Given the description of an element on the screen output the (x, y) to click on. 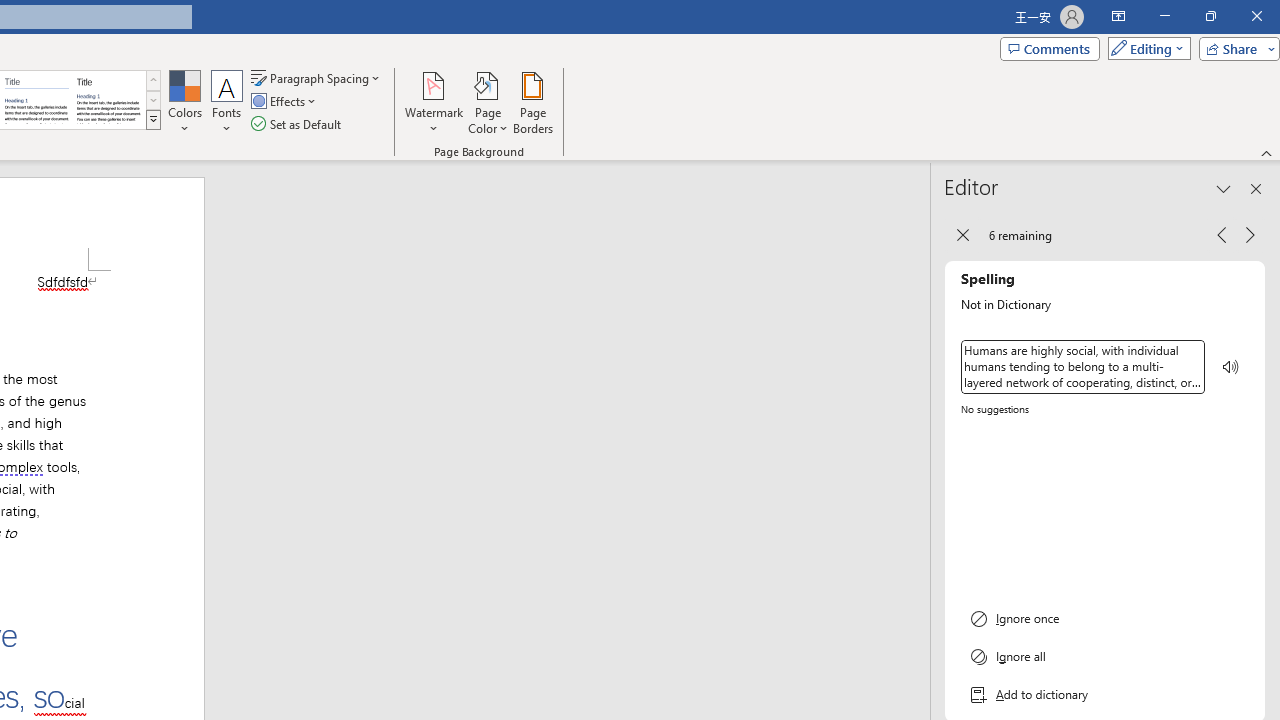
Paragraph Spacing (317, 78)
Style Set (153, 120)
Previous Issue, 6 remaining (1221, 234)
Effects (285, 101)
Page Borders... (532, 102)
Page Color (487, 102)
Add to dictionary (1105, 695)
Back (962, 234)
